Given the description of an element on the screen output the (x, y) to click on. 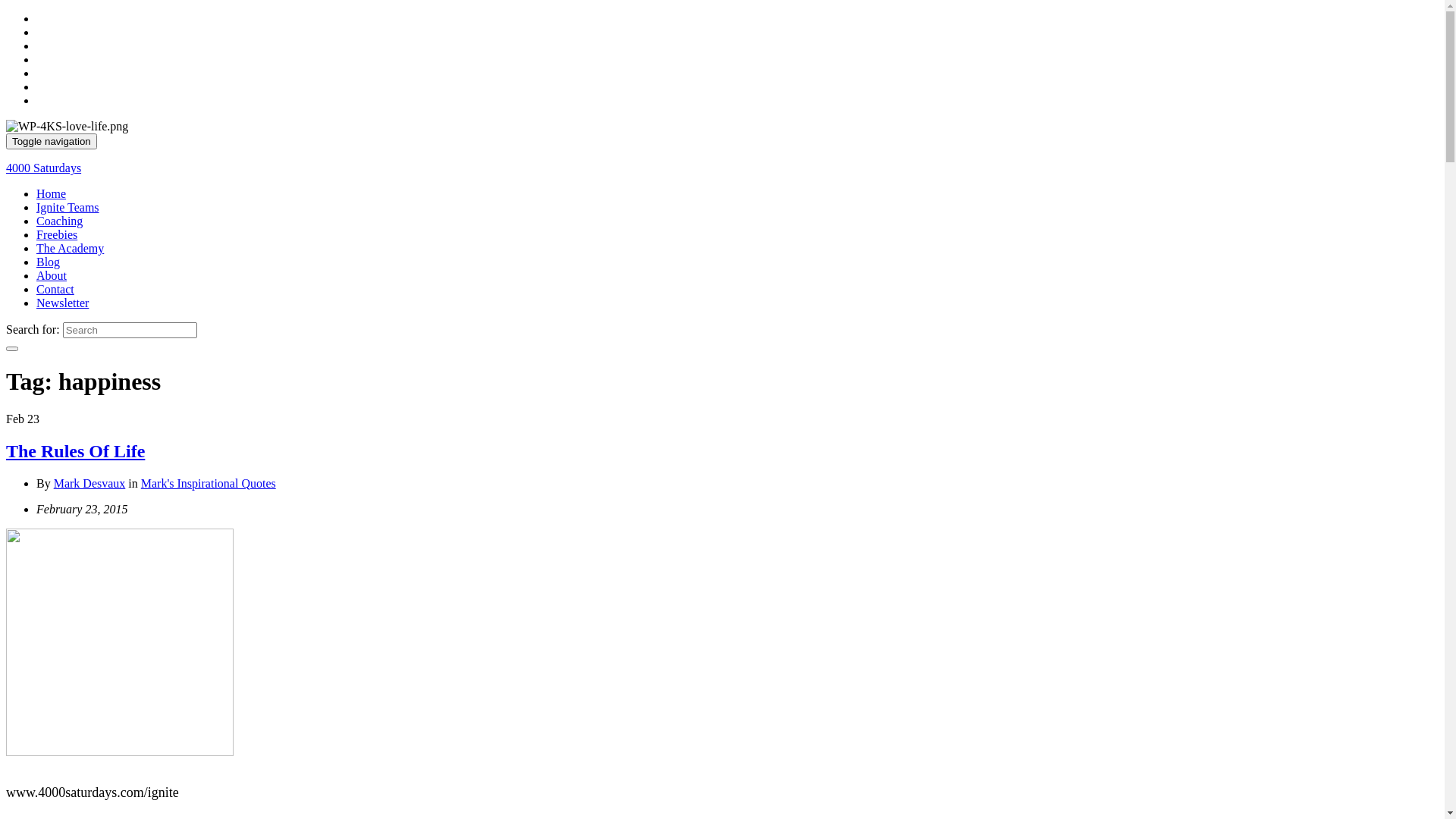
Blog Element type: text (47, 261)
4000 Saturdays Element type: text (43, 167)
Coaching Element type: text (59, 220)
Home Element type: text (50, 193)
The Academy Element type: text (69, 247)
Freebies Element type: text (56, 234)
Ignite Teams Element type: text (67, 206)
About Element type: text (51, 275)
Toggle navigation Element type: text (51, 141)
Newsletter Element type: text (62, 302)
WP-4KS-love-life.png Element type: hover (67, 126)
The Rules Of Life Element type: text (75, 451)
Contact Element type: text (55, 288)
Mark Desvaux Element type: text (89, 482)
Mark's Inspirational Quotes Element type: text (208, 482)
